Given the description of an element on the screen output the (x, y) to click on. 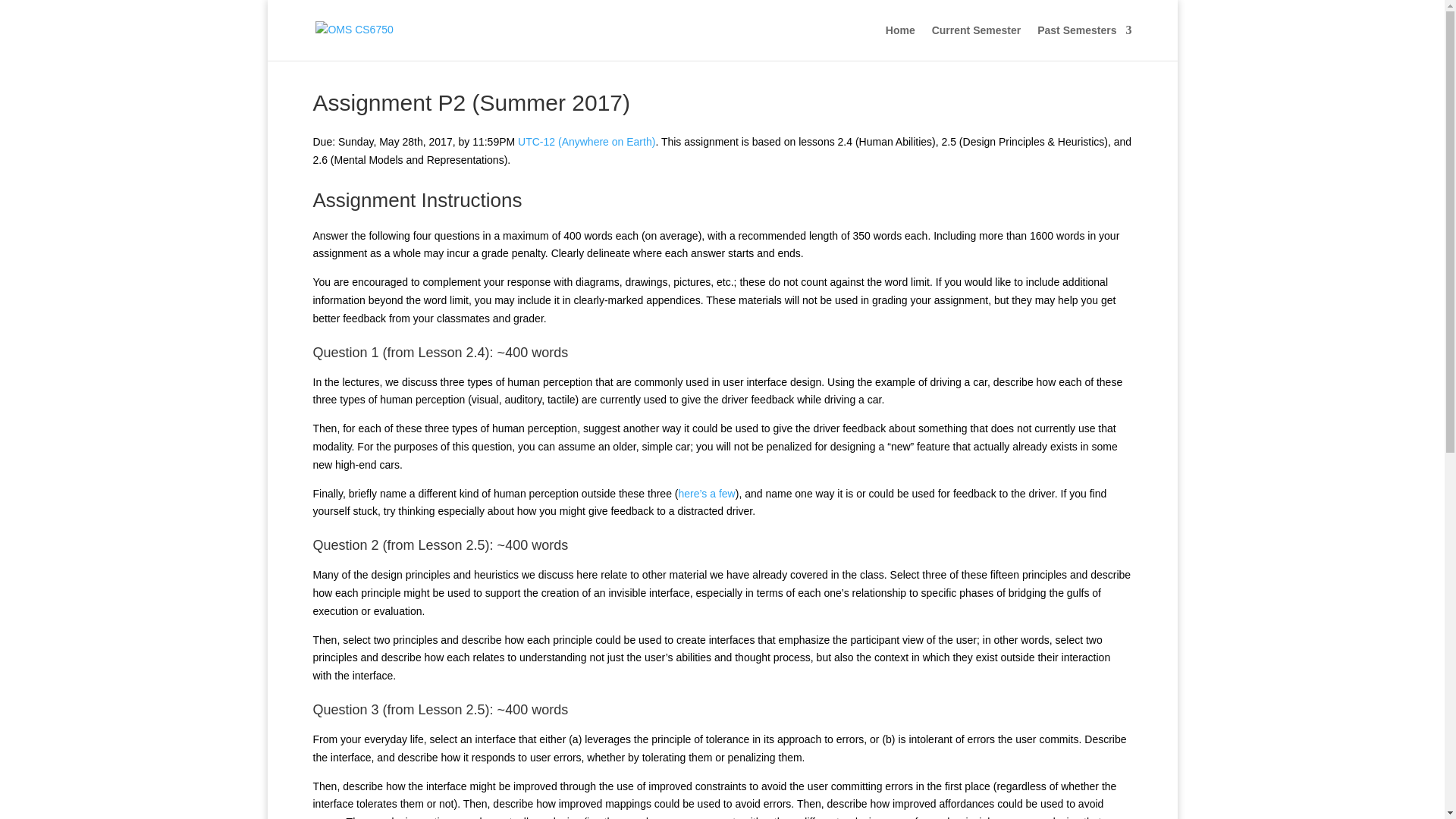
Current Semester (976, 42)
Home (900, 42)
Past Semesters (1083, 42)
